Given the description of an element on the screen output the (x, y) to click on. 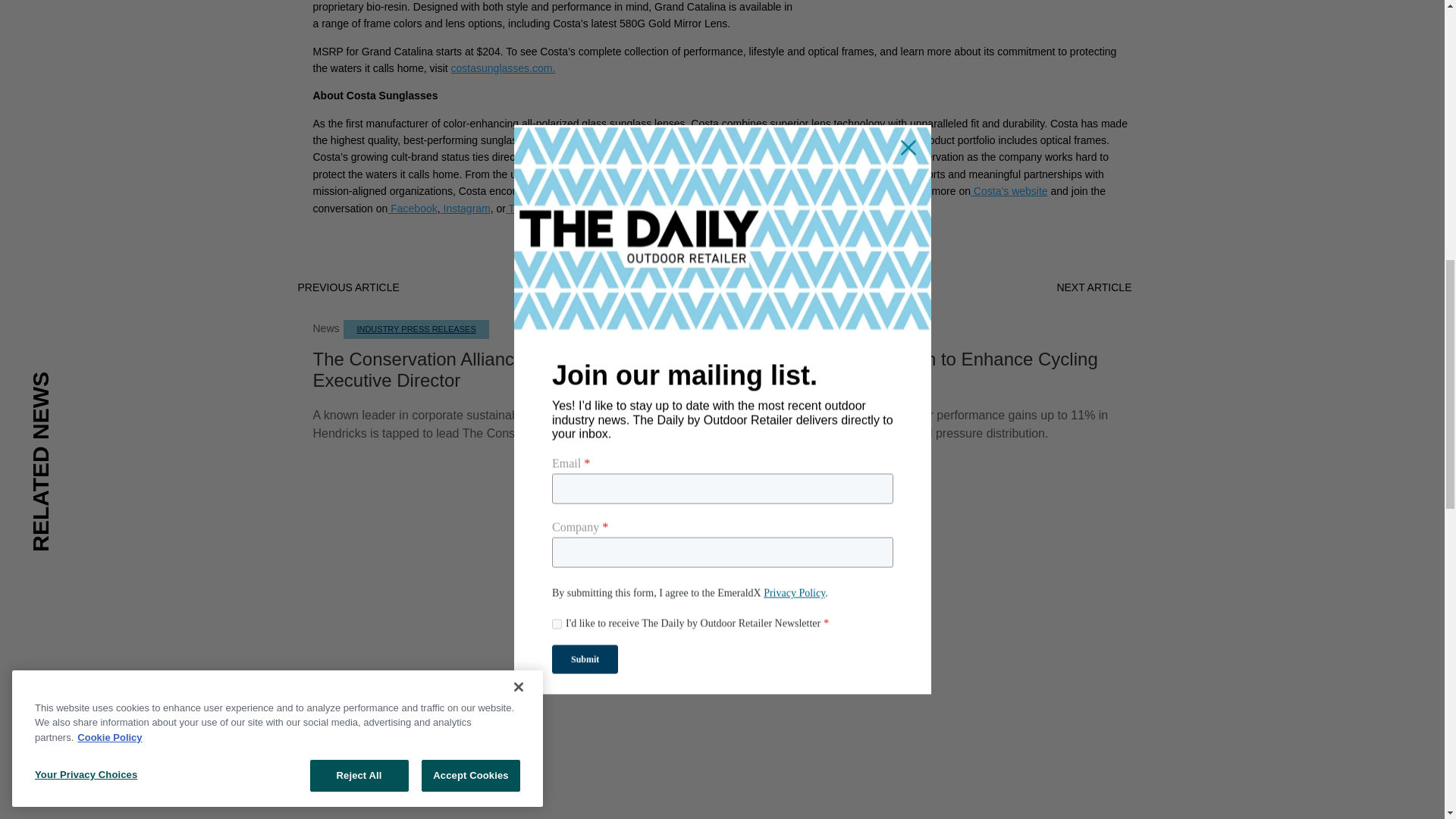
3rd party ad content (722, 778)
